Given the description of an element on the screen output the (x, y) to click on. 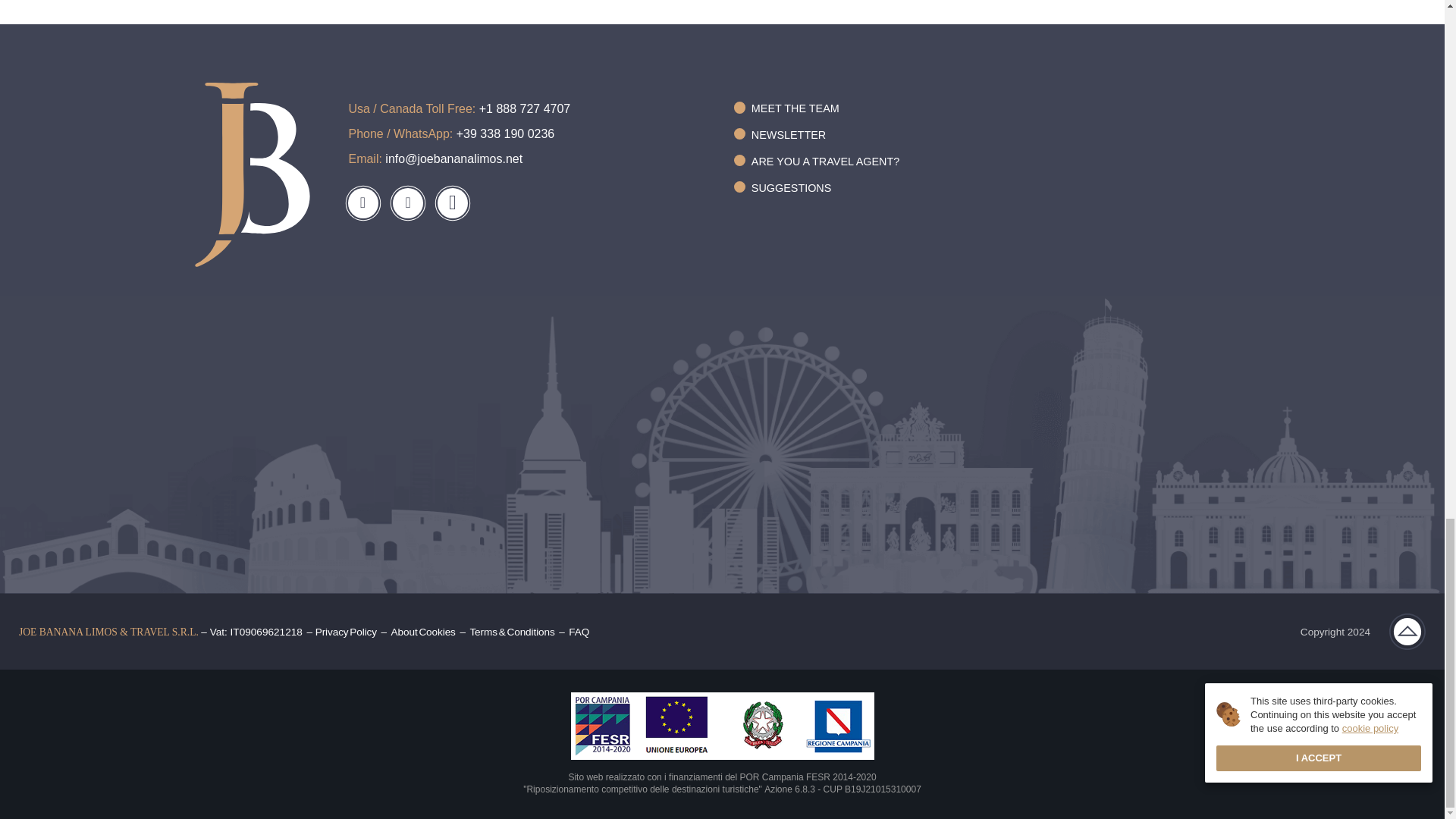
instagram (408, 203)
facebook (362, 203)
tripadvisor (452, 203)
